Given the description of an element on the screen output the (x, y) to click on. 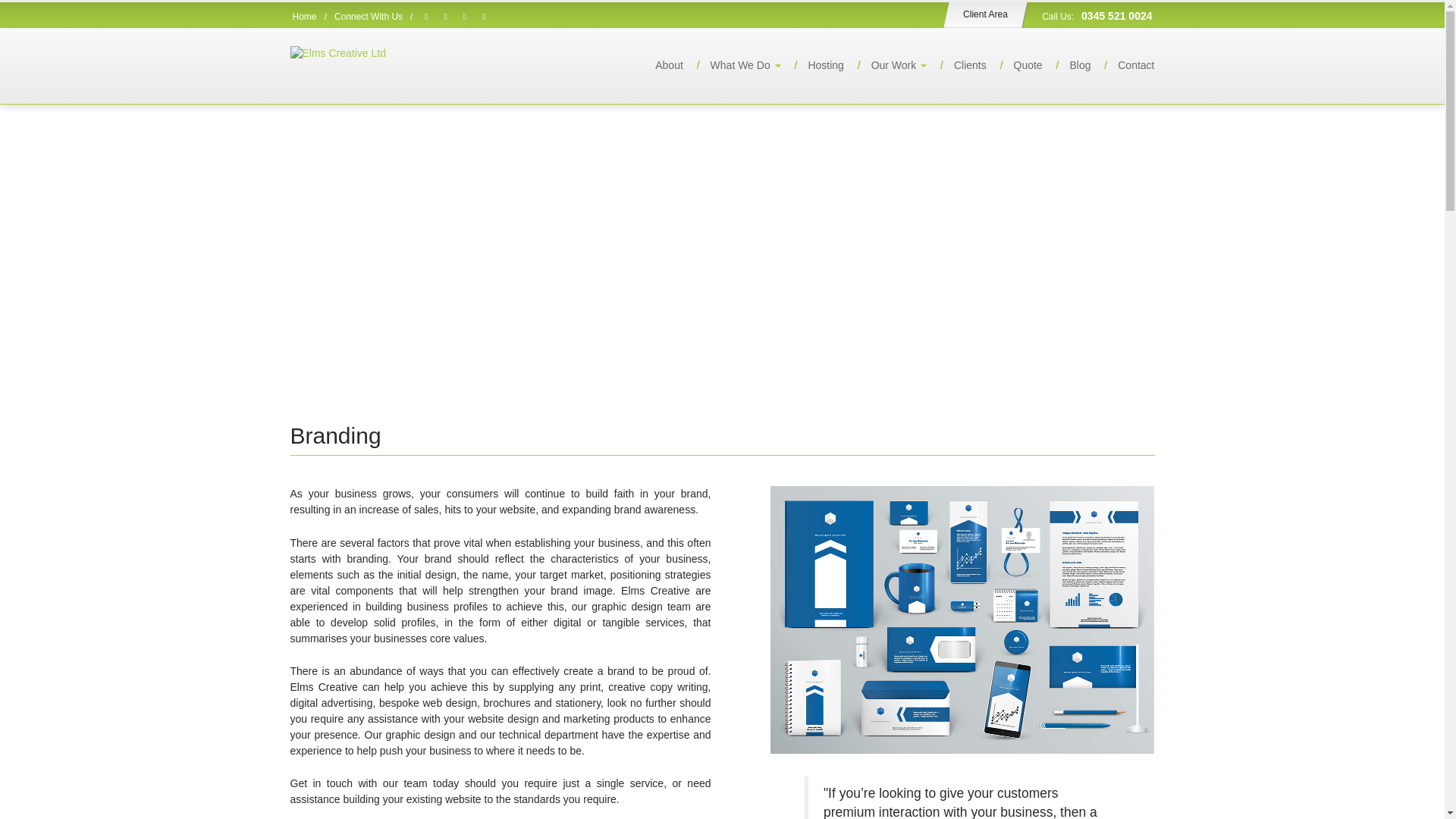
Blog (1067, 65)
Hosting (813, 65)
Quote (1016, 65)
Clients (958, 65)
Our Work (886, 65)
Home (305, 16)
About (657, 65)
Client Area (982, 14)
What We Do (732, 65)
Contact (1123, 65)
